Given the description of an element on the screen output the (x, y) to click on. 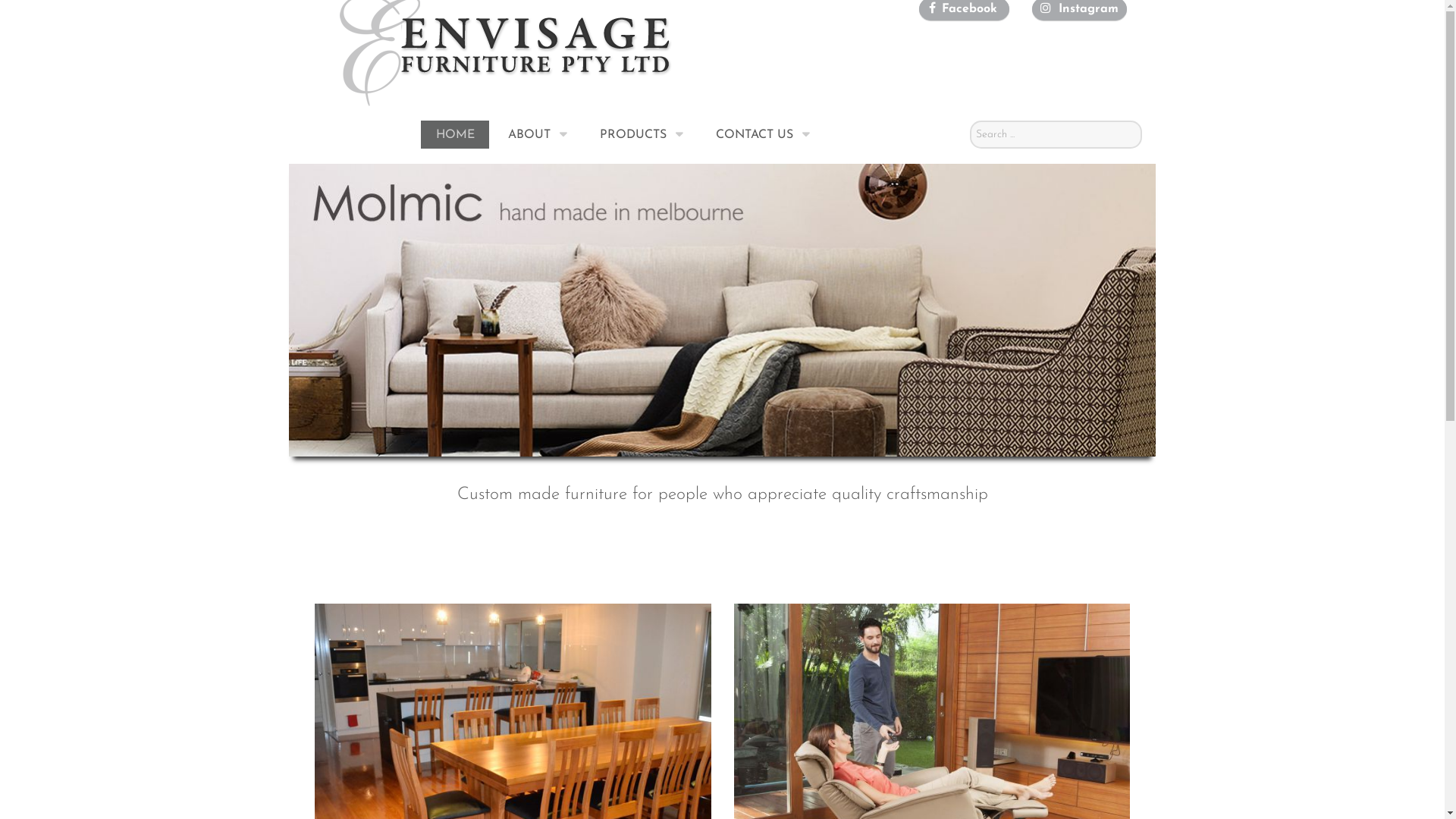
Citadel Element type: hover (505, 51)
HOME Element type: text (454, 134)
 Facebook Element type: text (967, 9)
 Instagram Element type: text (1086, 9)
